Given the description of an element on the screen output the (x, y) to click on. 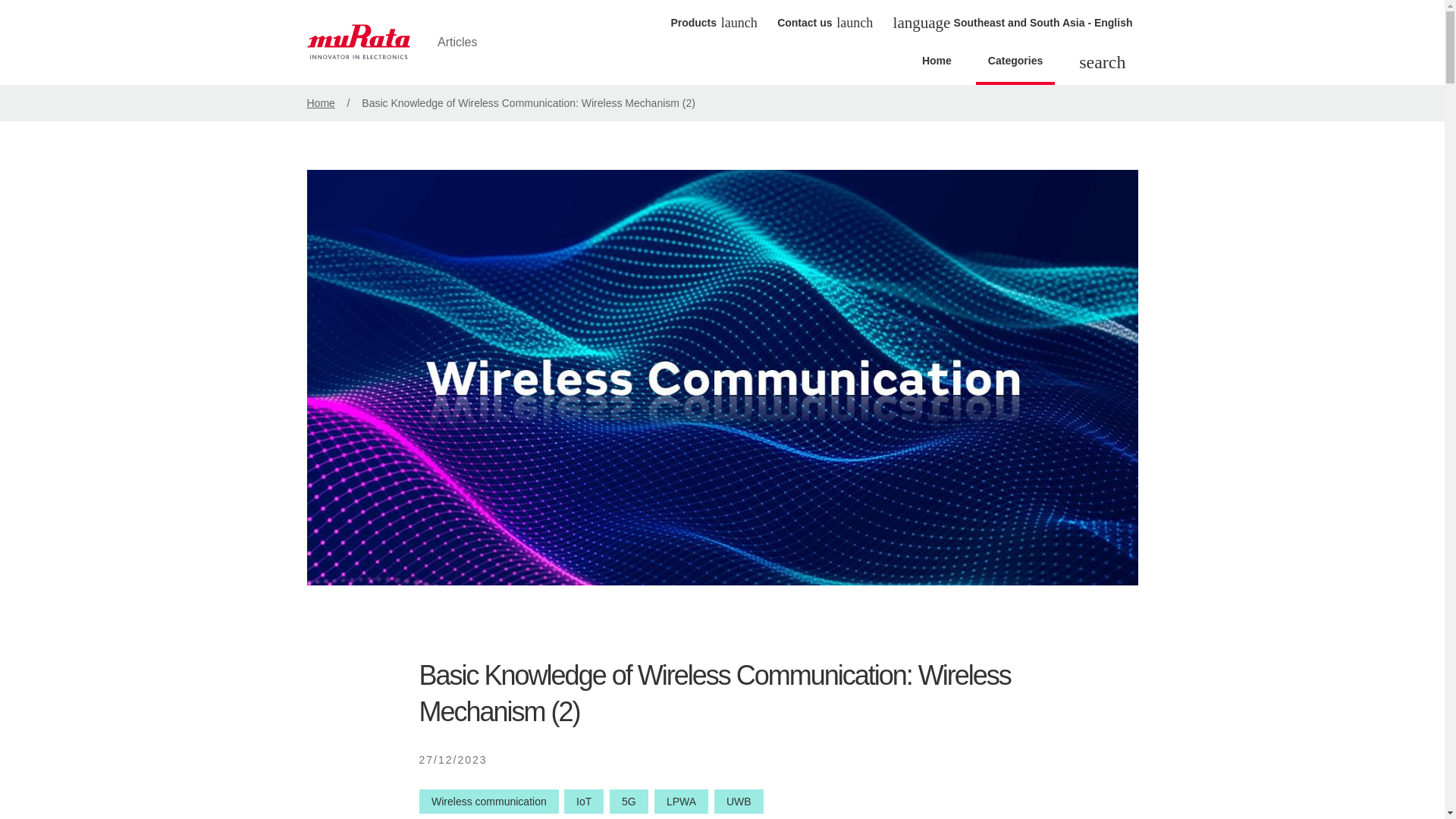
Home (936, 65)
LPWA (680, 801)
Articles (403, 42)
Wireless communication (488, 801)
Products launch (712, 22)
languageSoutheast and South Asia - English (1013, 22)
5G (628, 801)
IoT (584, 801)
Contact us launch (823, 22)
Home (319, 102)
UWB (738, 801)
Categories (1014, 65)
search (1102, 63)
